Given the description of an element on the screen output the (x, y) to click on. 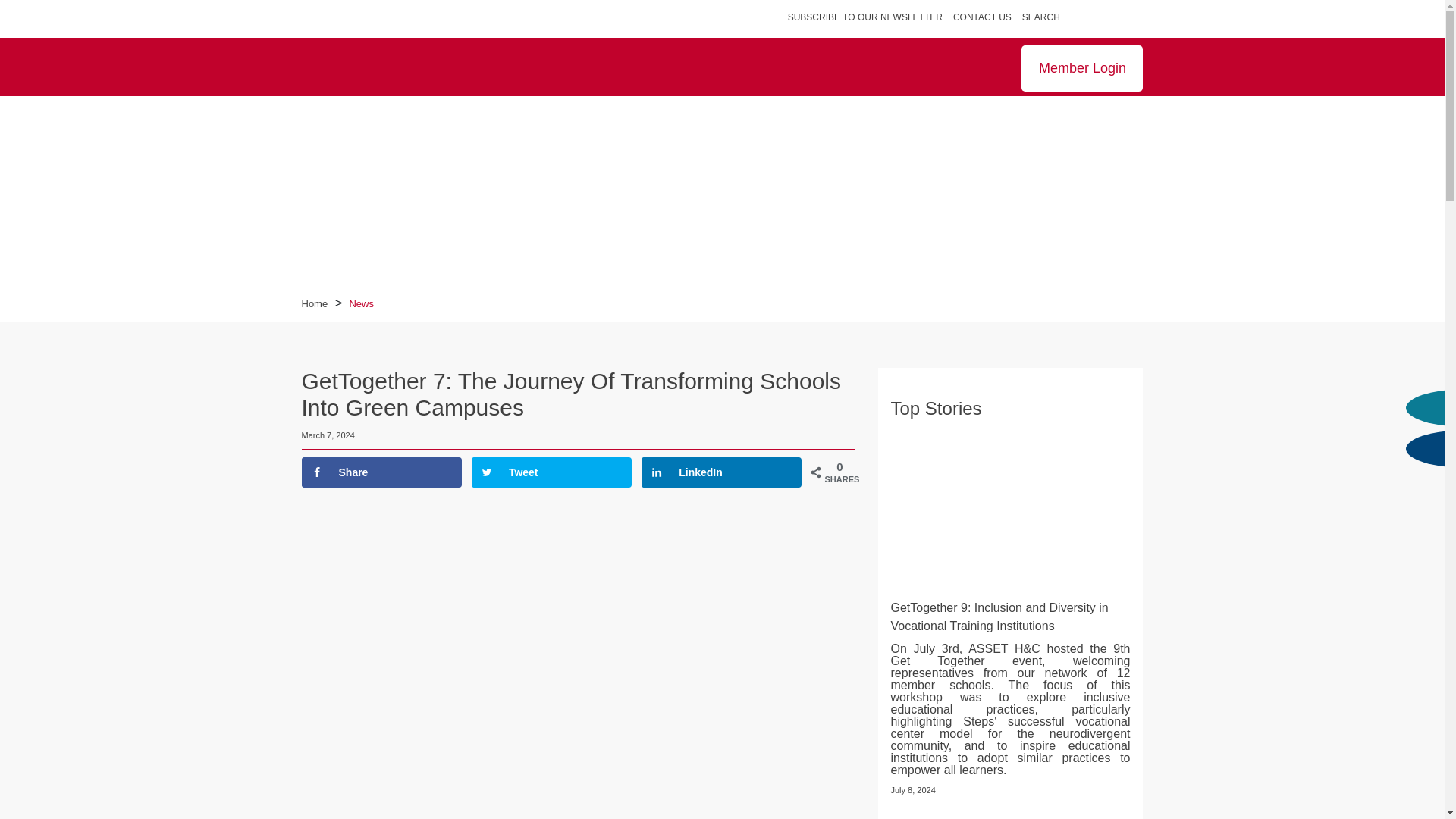
SUBSCRIBE TO OUR NEWSLETTER (864, 17)
Share on LinkedIn (722, 472)
Share on Facebook (381, 472)
SEARCH   (1048, 17)
News (361, 303)
Home (316, 303)
Share on Twitter (551, 472)
CONTACT US (982, 17)
